Given the description of an element on the screen output the (x, y) to click on. 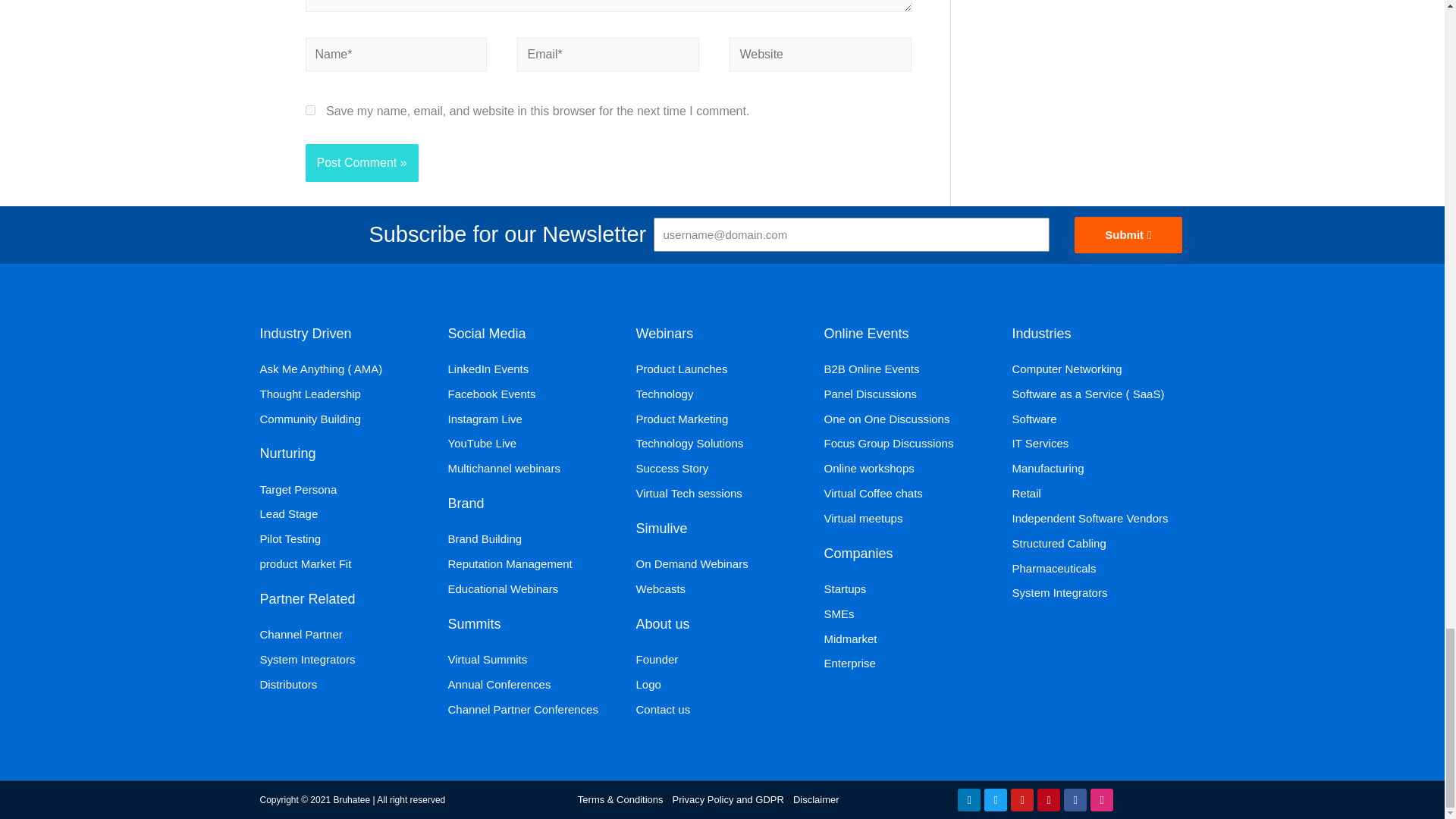
yes (309, 110)
